Given the description of an element on the screen output the (x, y) to click on. 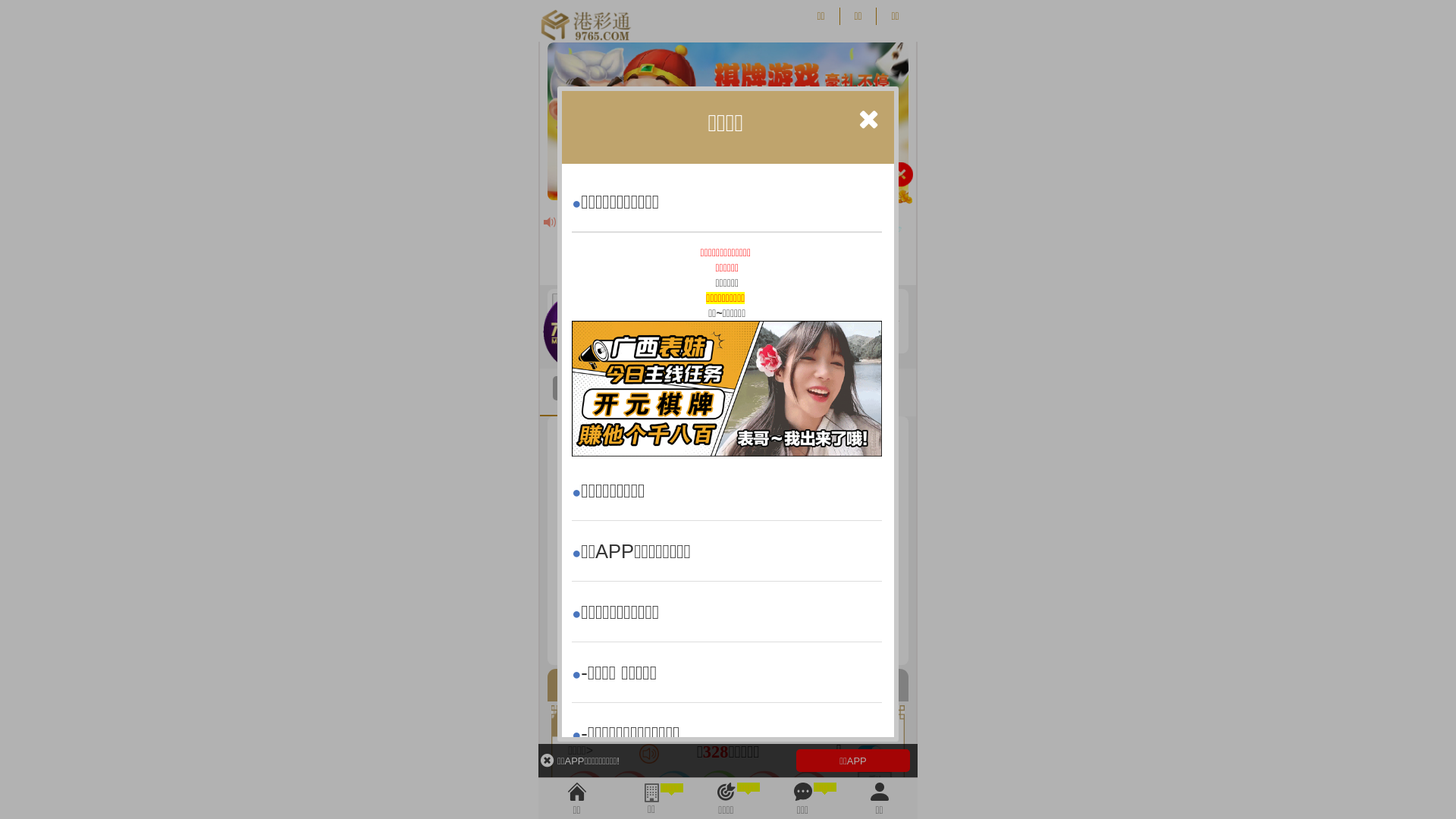
1700228965207625.gif Element type: hover (726, 388)
